Given the description of an element on the screen output the (x, y) to click on. 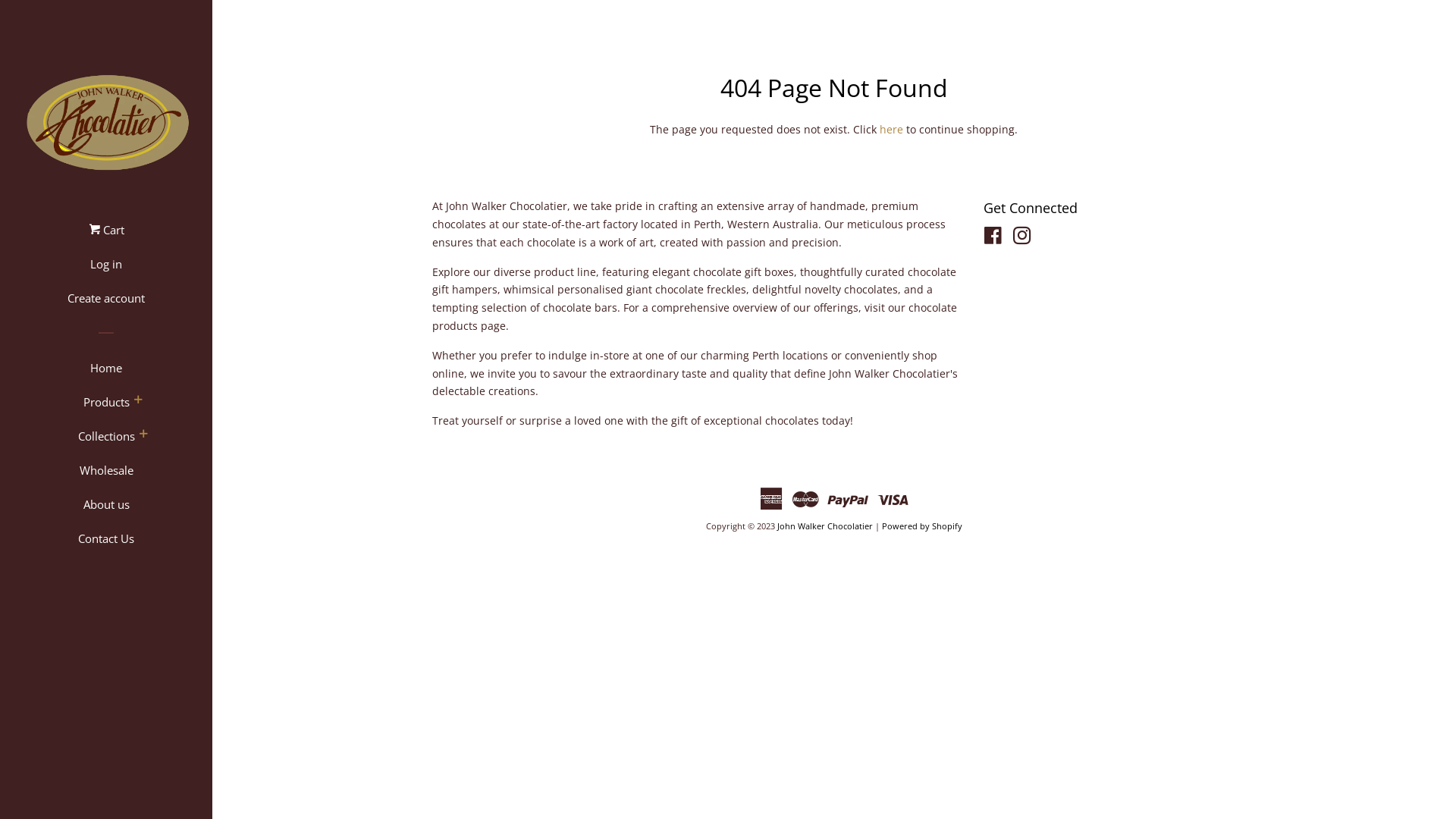
Wholesale Element type: text (105, 475)
expand Element type: text (142, 434)
expand Element type: text (136, 400)
here Element type: text (891, 129)
Home Element type: text (105, 373)
Powered by Shopify Element type: text (921, 525)
Facebook Element type: text (992, 238)
John Walker Chocolatier Element type: text (824, 525)
Products Element type: text (106, 407)
Collections Element type: text (105, 441)
Cart Element type: text (105, 235)
Contact Us Element type: text (105, 544)
Log in Element type: text (105, 269)
Create account Element type: text (105, 303)
About us Element type: text (105, 509)
Instagram Element type: text (1022, 238)
